Given the description of an element on the screen output the (x, y) to click on. 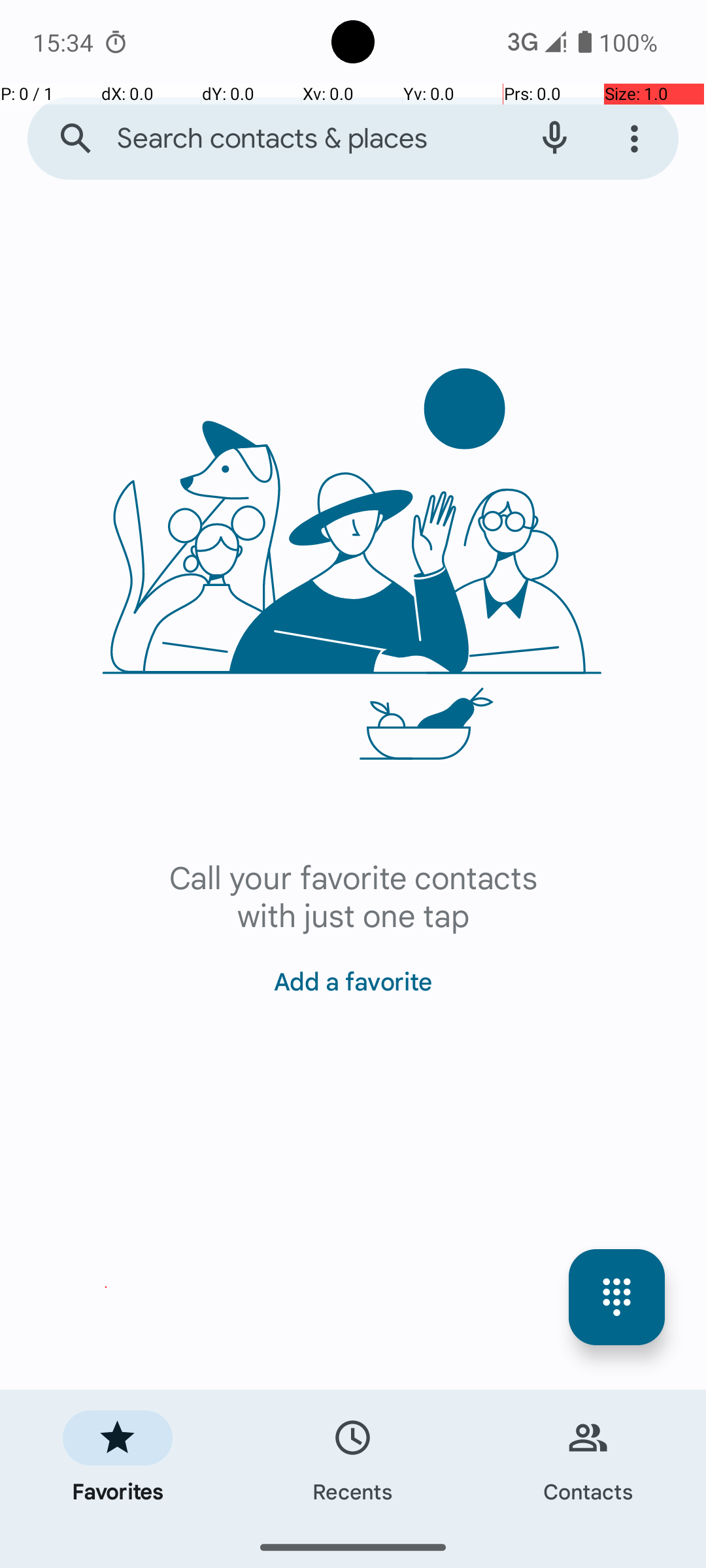
Call your favorite contacts with just one tap Element type: android.widget.TextView (352, 895)
Add a favorite Element type: android.widget.TextView (353, 973)
key pad Element type: android.widget.ImageButton (616, 1297)
Recents Element type: android.widget.FrameLayout (352, 1457)
Start voice search Element type: android.widget.Button (554, 138)
